Given the description of an element on the screen output the (x, y) to click on. 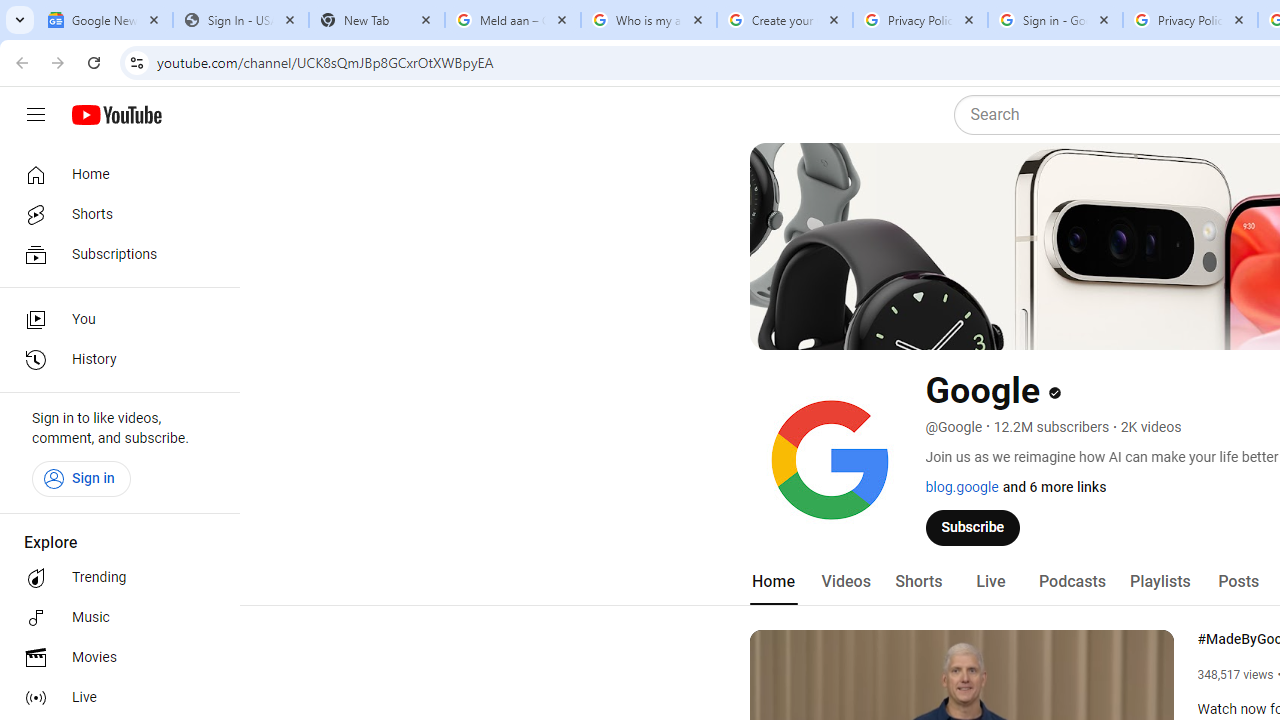
Sign In - USA TODAY (240, 20)
Podcasts (1072, 581)
New Tab (376, 20)
YouTube Home (116, 115)
History (113, 359)
Videos (845, 581)
Posts (1238, 581)
Subscriptions (113, 254)
and 6 more links (1054, 487)
Playlists (1160, 581)
Movies (113, 657)
Music (113, 617)
